Given the description of an element on the screen output the (x, y) to click on. 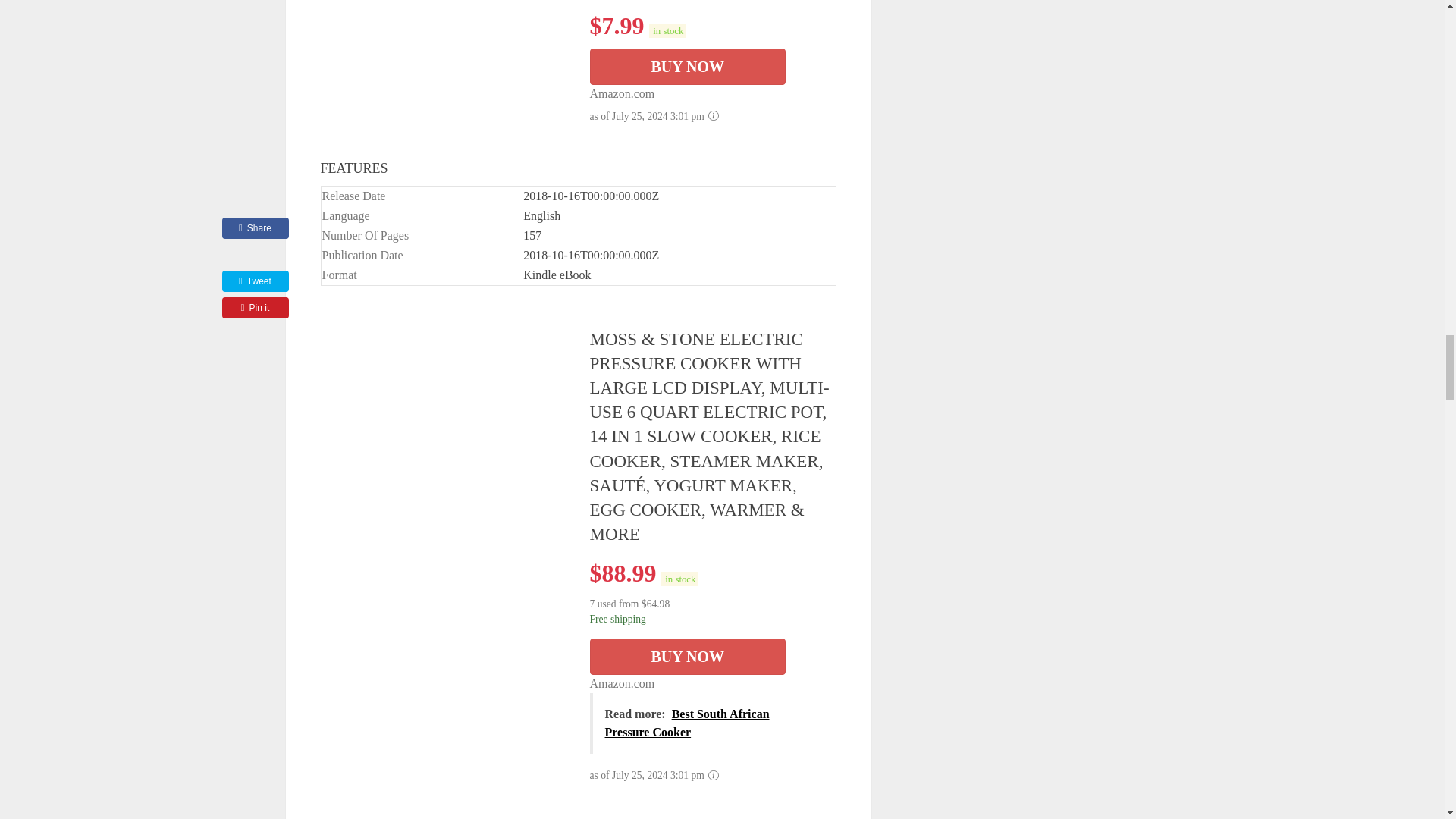
Last updated on July 25, 2024 3:01 pm (667, 30)
Last updated on July 25, 2024 3:01 pm (679, 578)
